Given the description of an element on the screen output the (x, y) to click on. 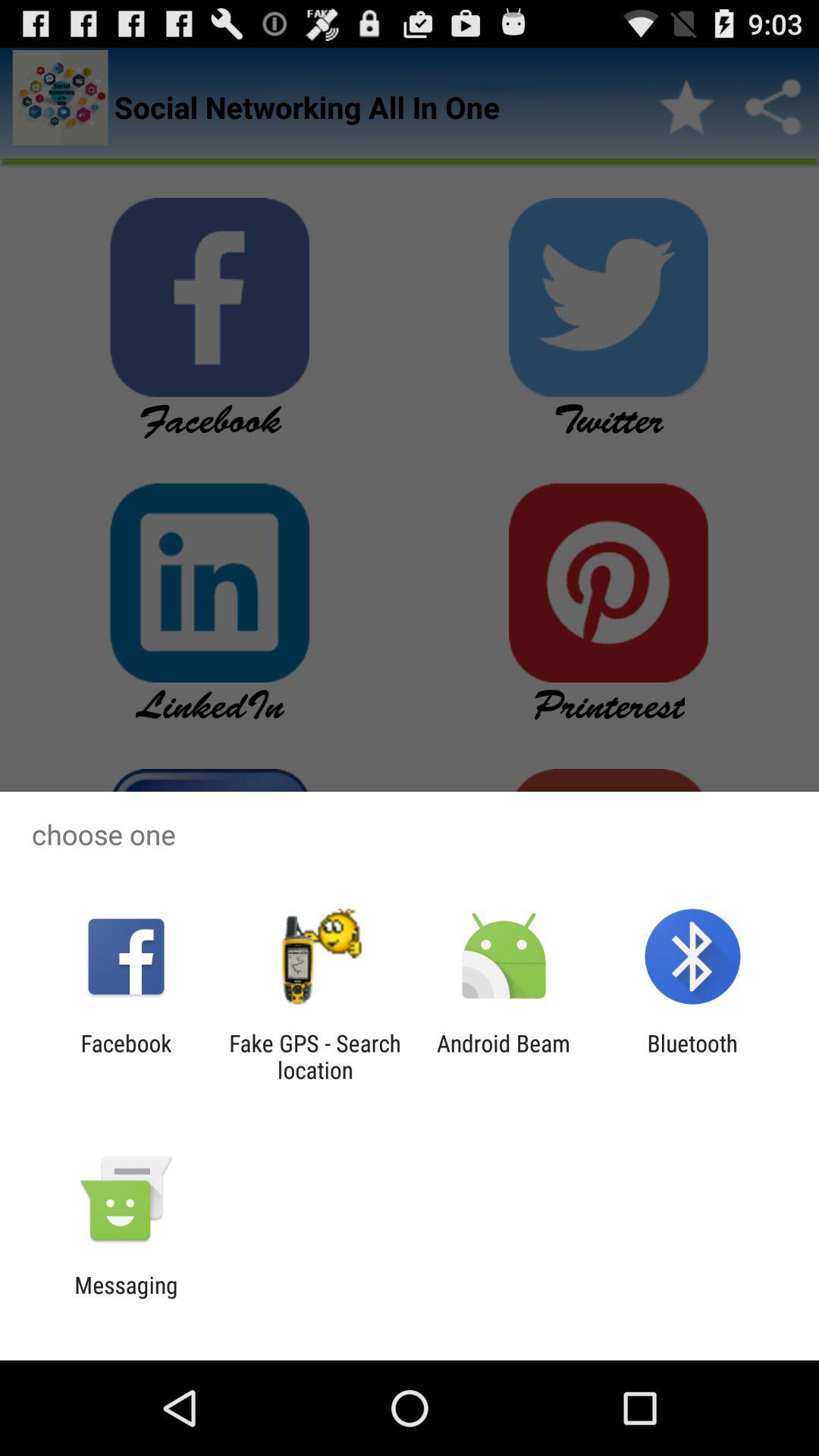
launch bluetooth app (692, 1056)
